Given the description of an element on the screen output the (x, y) to click on. 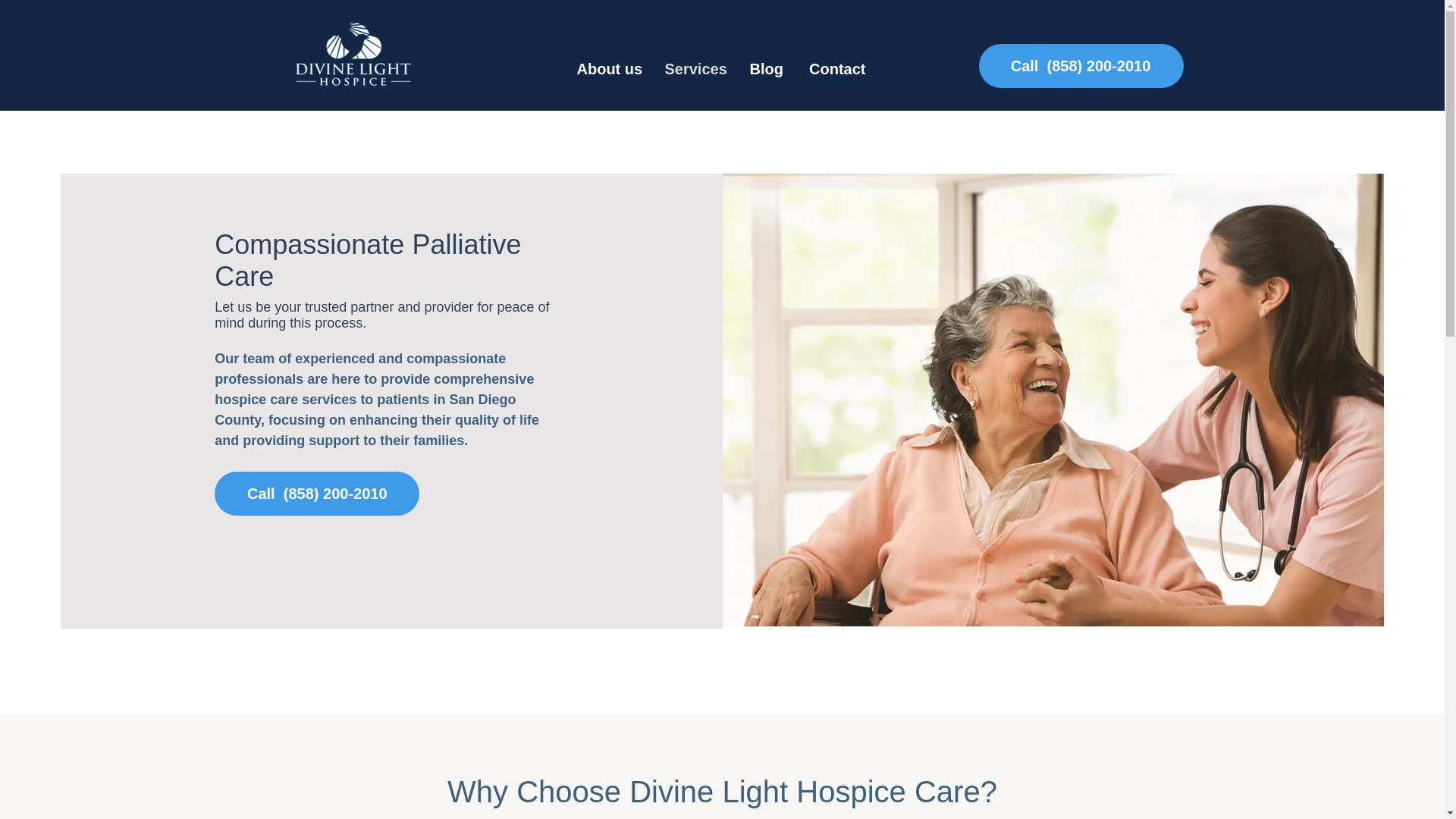
About us (609, 68)
Blog (765, 68)
Contact (835, 68)
Services (695, 68)
